Given the description of an element on the screen output the (x, y) to click on. 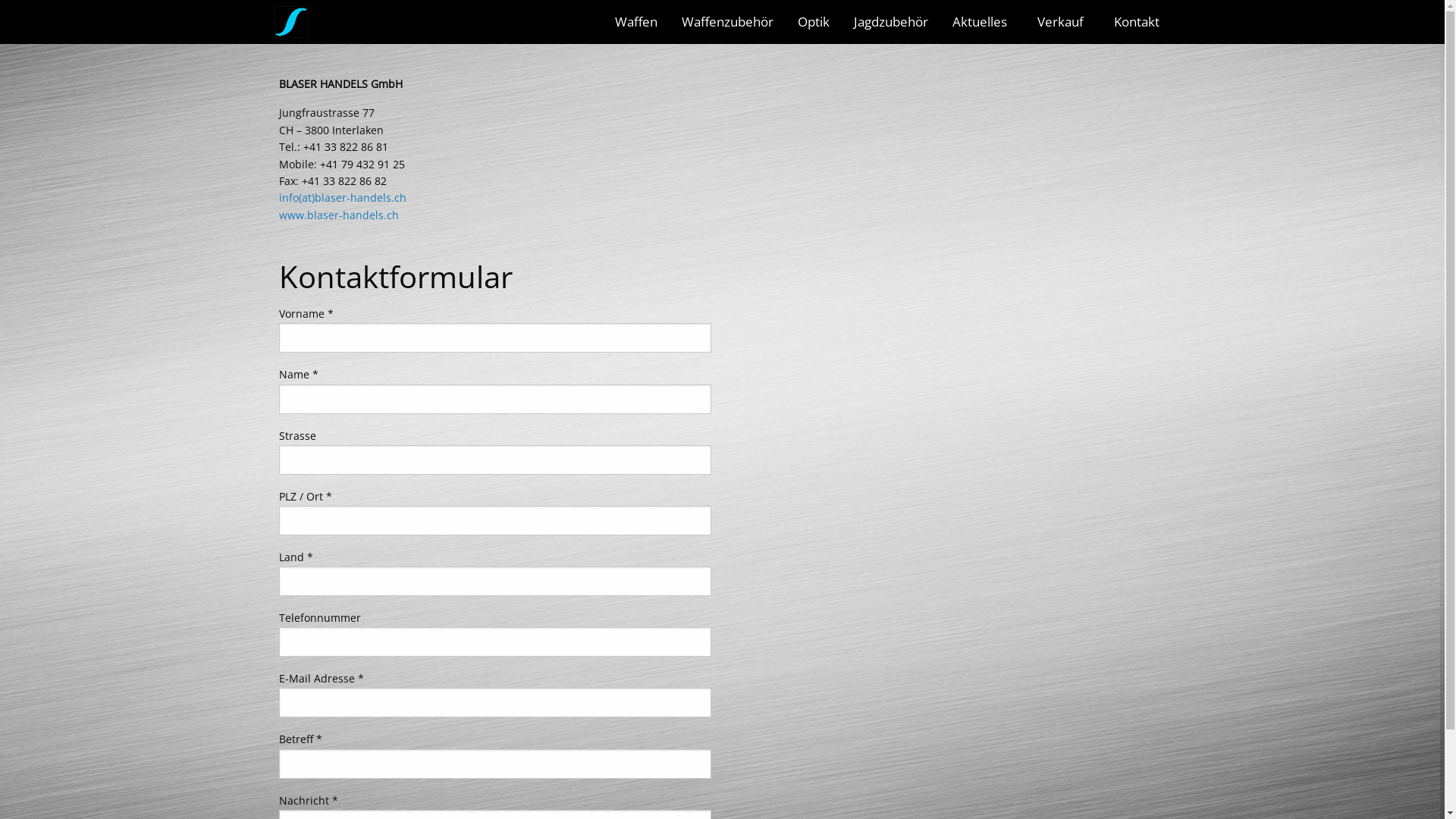
Verkauf Element type: text (1063, 21)
www.blaser-handels.ch Element type: text (338, 214)
info(at)blaser-handels.ch Element type: text (342, 197)
Optik Element type: text (813, 21)
Kontakt Element type: text (1135, 21)
Aktuelles Element type: text (982, 21)
Waffen Element type: text (635, 21)
